Given the description of an element on the screen output the (x, y) to click on. 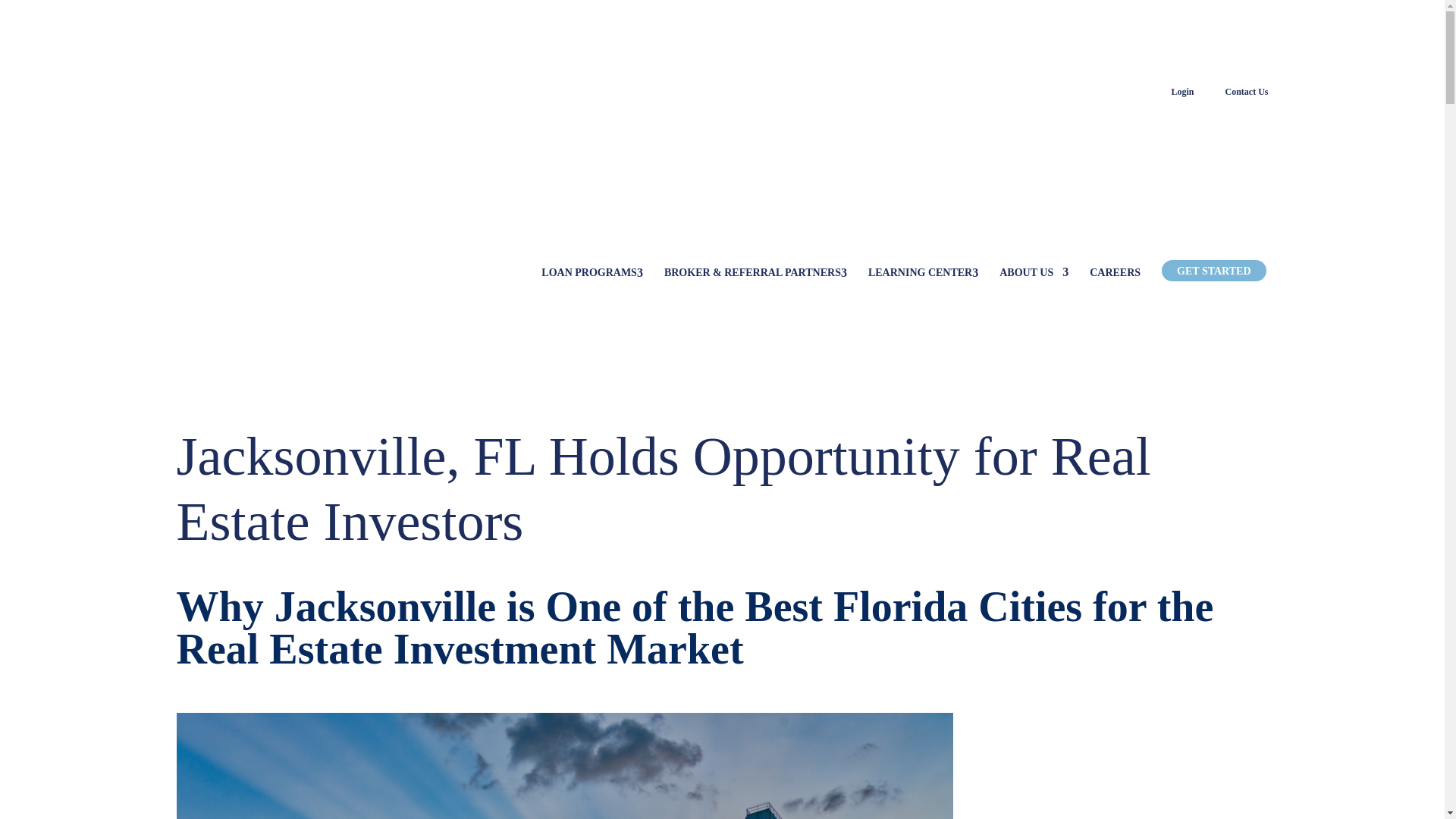
Login (1181, 91)
ABOUT US (1033, 272)
Contact Us (1246, 91)
GET STARTED (1213, 270)
CAREERS (1114, 272)
